Given the description of an element on the screen output the (x, y) to click on. 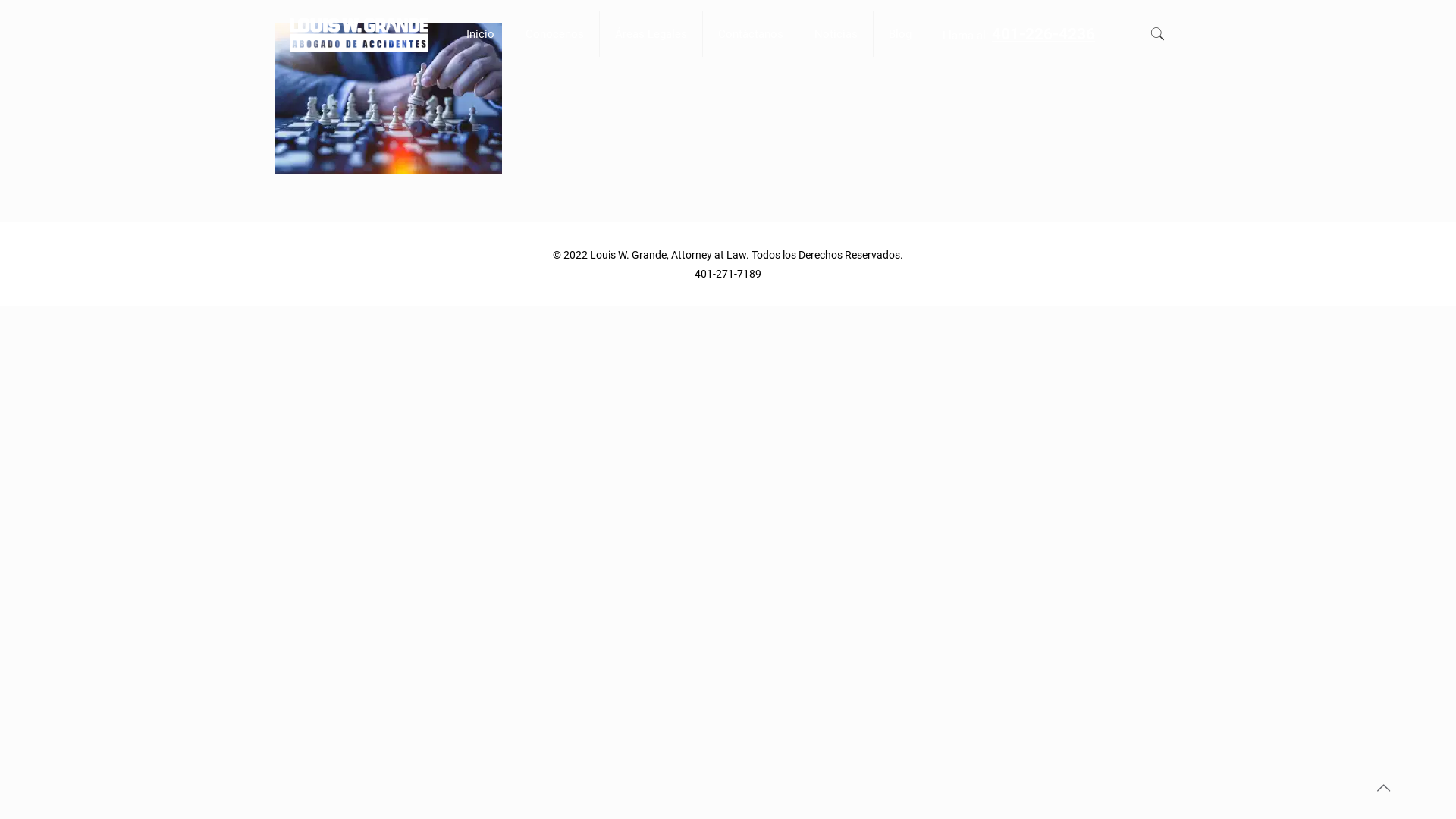
401 Abogado Element type: hover (358, 28)
Noticias Element type: text (836, 34)
Llama al: 401-226-4236 Element type: text (1018, 34)
Blog Element type: text (900, 34)
Inicio Element type: text (480, 34)
Conocenos Element type: text (554, 34)
